Given the description of an element on the screen output the (x, y) to click on. 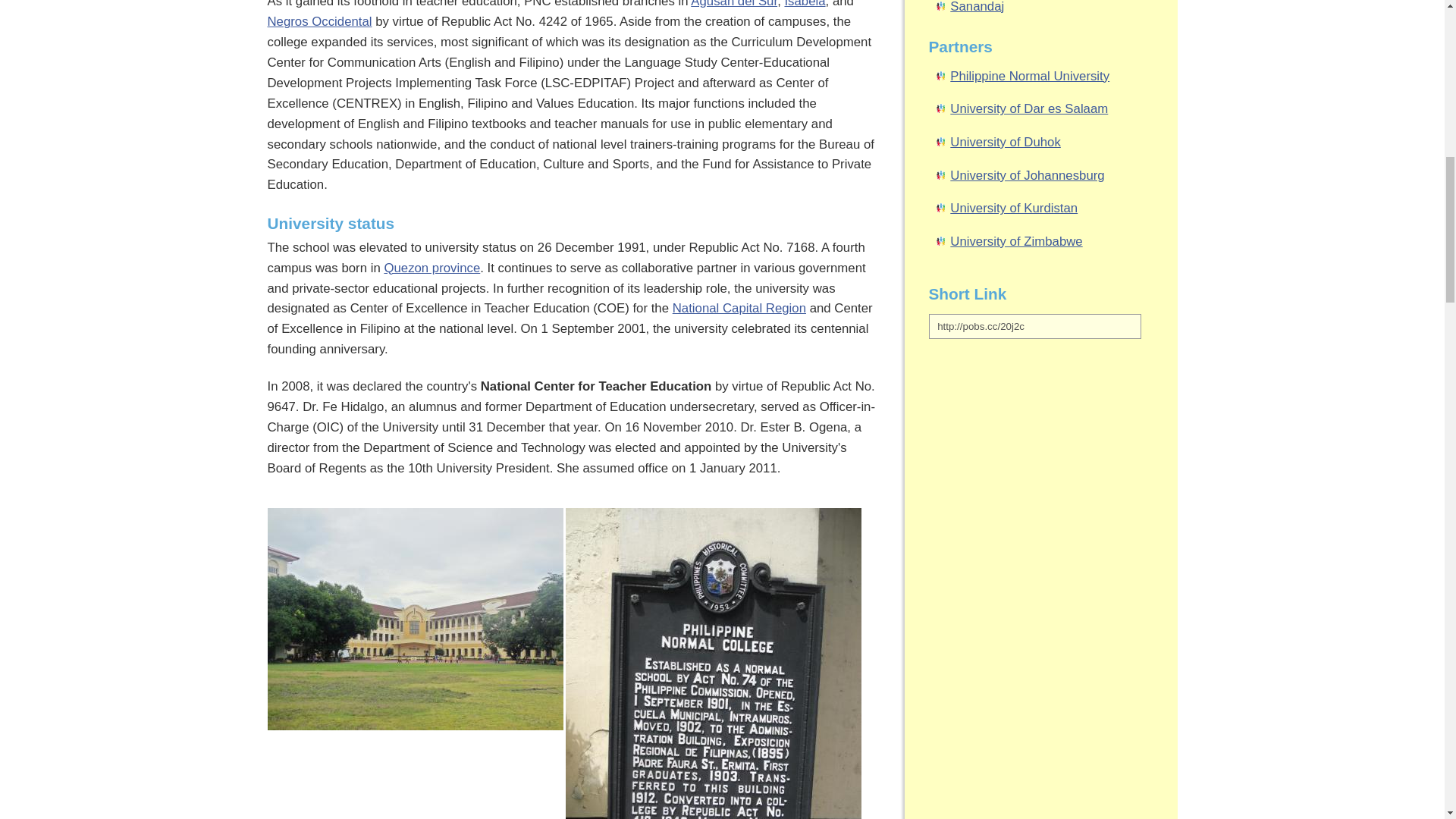
Sanandaj (977, 6)
Philippine Normal University (414, 618)
Negros Occidental (318, 21)
Philippine Normal University (414, 726)
Isabela (804, 4)
Philippine Normal University (1029, 75)
National Capital Region (739, 308)
Philippine Normal University (713, 663)
Quezon province (432, 268)
Agusan del Sur (733, 4)
